Given the description of an element on the screen output the (x, y) to click on. 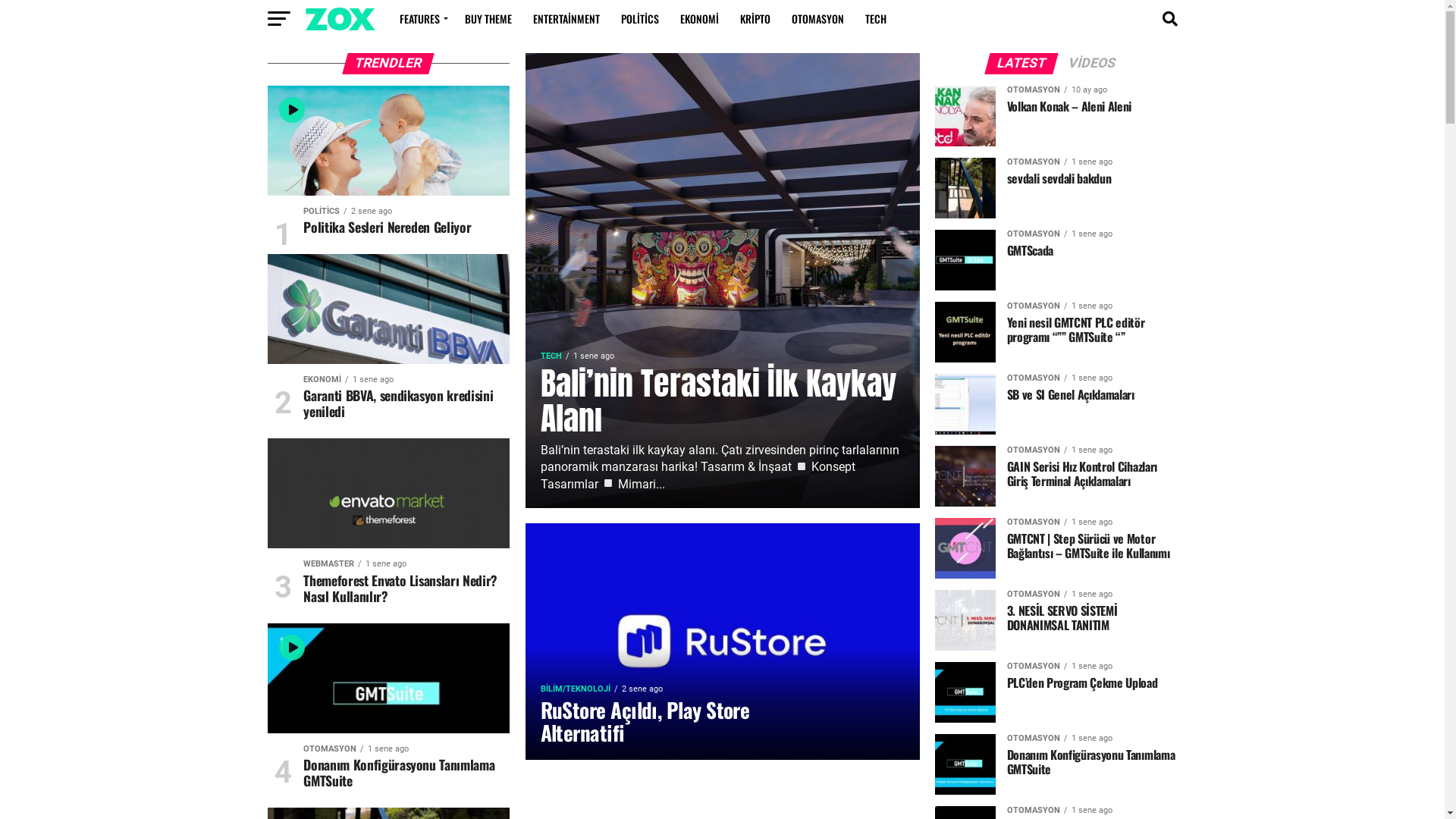
TECH Element type: text (874, 18)
VIDEOS Element type: text (1091, 63)
LATEST Element type: text (1021, 63)
OTOMASYON Element type: text (817, 18)
POLITICS Element type: text (639, 18)
KRIPTO Element type: text (755, 18)
FEATURES Element type: text (420, 18)
BUY THEME Element type: text (487, 18)
ENTERTAINMENT Element type: text (565, 18)
EKONOMI Element type: text (698, 18)
